Given the description of an element on the screen output the (x, y) to click on. 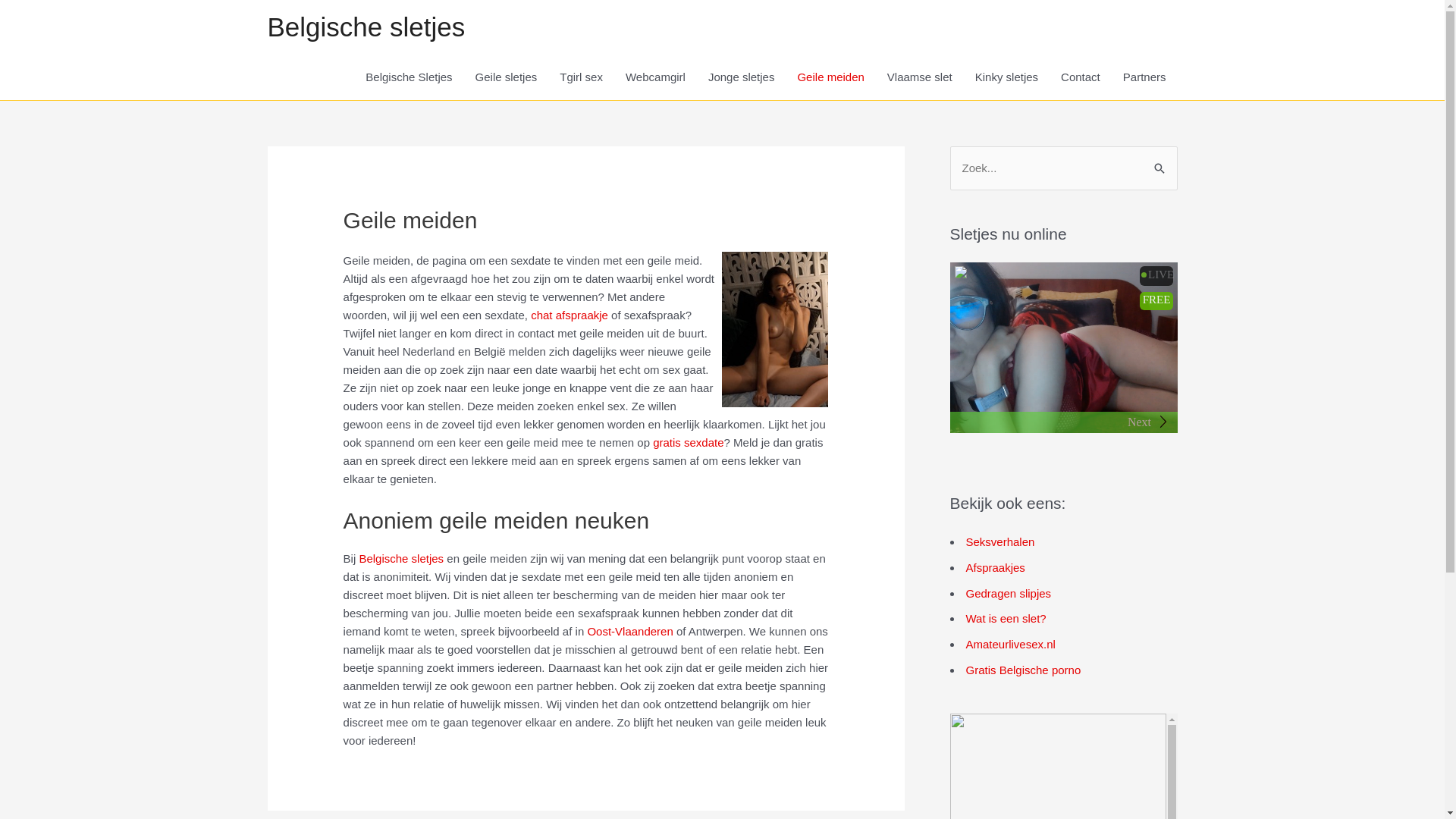
Belgische Sletjes Element type: text (408, 77)
Afspraakjes Element type: text (995, 567)
Geile sletjes Element type: text (506, 77)
Vlaamse slet Element type: text (919, 77)
Belgische sletjes Element type: text (400, 558)
Oost-Vlaanderen Element type: text (629, 630)
Belgische sletjes Element type: text (365, 26)
chat afspraakje Element type: text (569, 314)
Jonge sletjes Element type: text (741, 77)
Amateurlivesex.nl Element type: text (1010, 643)
Geile meiden Element type: text (830, 77)
Contact Element type: text (1080, 77)
Kinky sletjes Element type: text (1006, 77)
Seksverhalen Element type: text (1000, 541)
Wat is een slet? Element type: text (1006, 617)
Gratis Belgische porno Element type: text (1023, 669)
Zoeken Element type: text (1160, 166)
Webcamgirl Element type: text (655, 77)
Partners Element type: text (1144, 77)
Gedragen slipjes Element type: text (1008, 592)
Tgirl sex Element type: text (581, 77)
gratis sexdate Element type: text (687, 442)
